Given the description of an element on the screen output the (x, y) to click on. 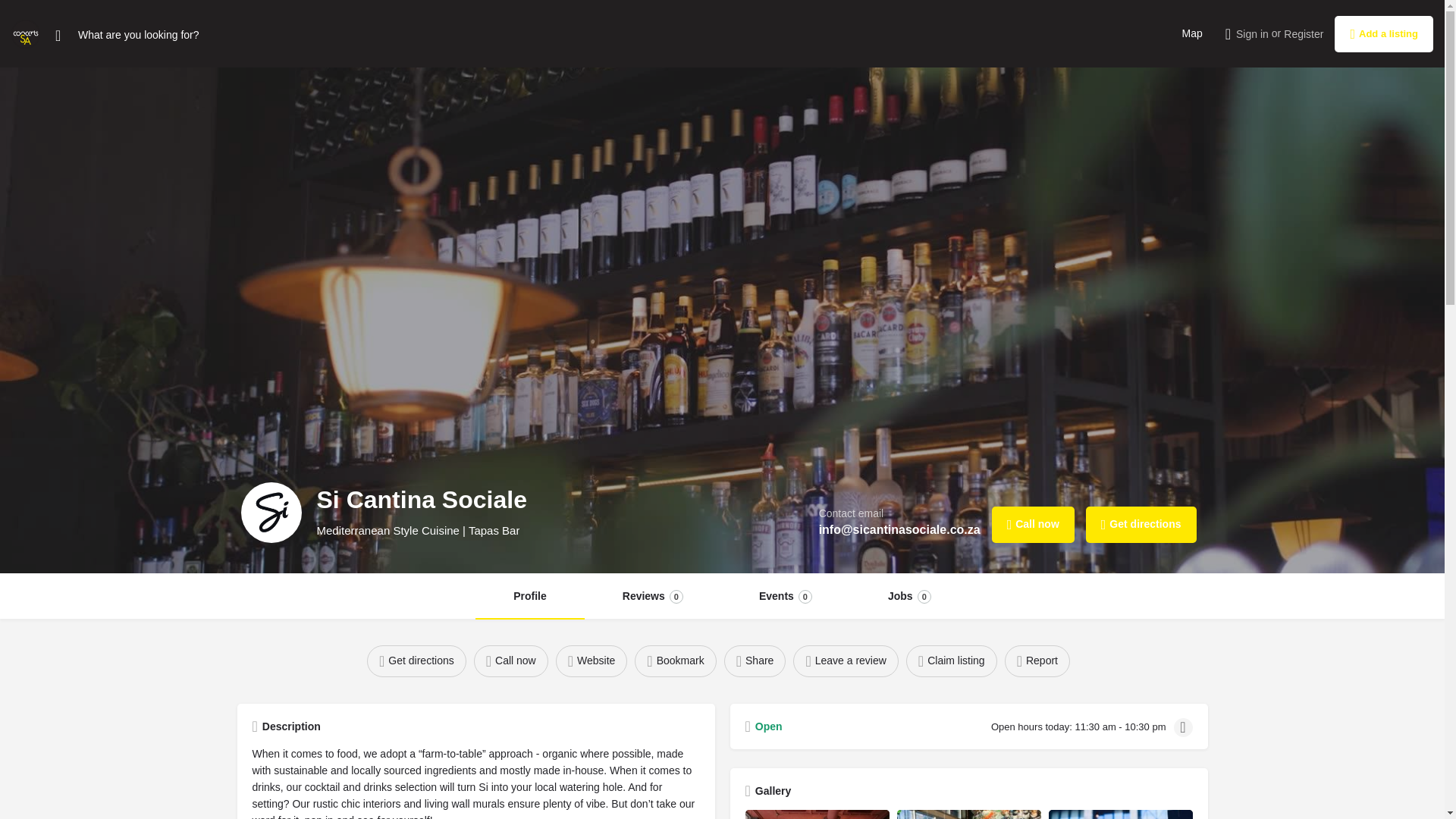
Add a listing (1383, 33)
Map (785, 596)
Report (909, 596)
Register (1191, 32)
Get directions (1037, 661)
Claim listing (1303, 33)
Leave a review (1141, 524)
Website (652, 596)
Call now (951, 661)
Get directions (845, 661)
Sign in (591, 661)
Profile (511, 661)
